Given the description of an element on the screen output the (x, y) to click on. 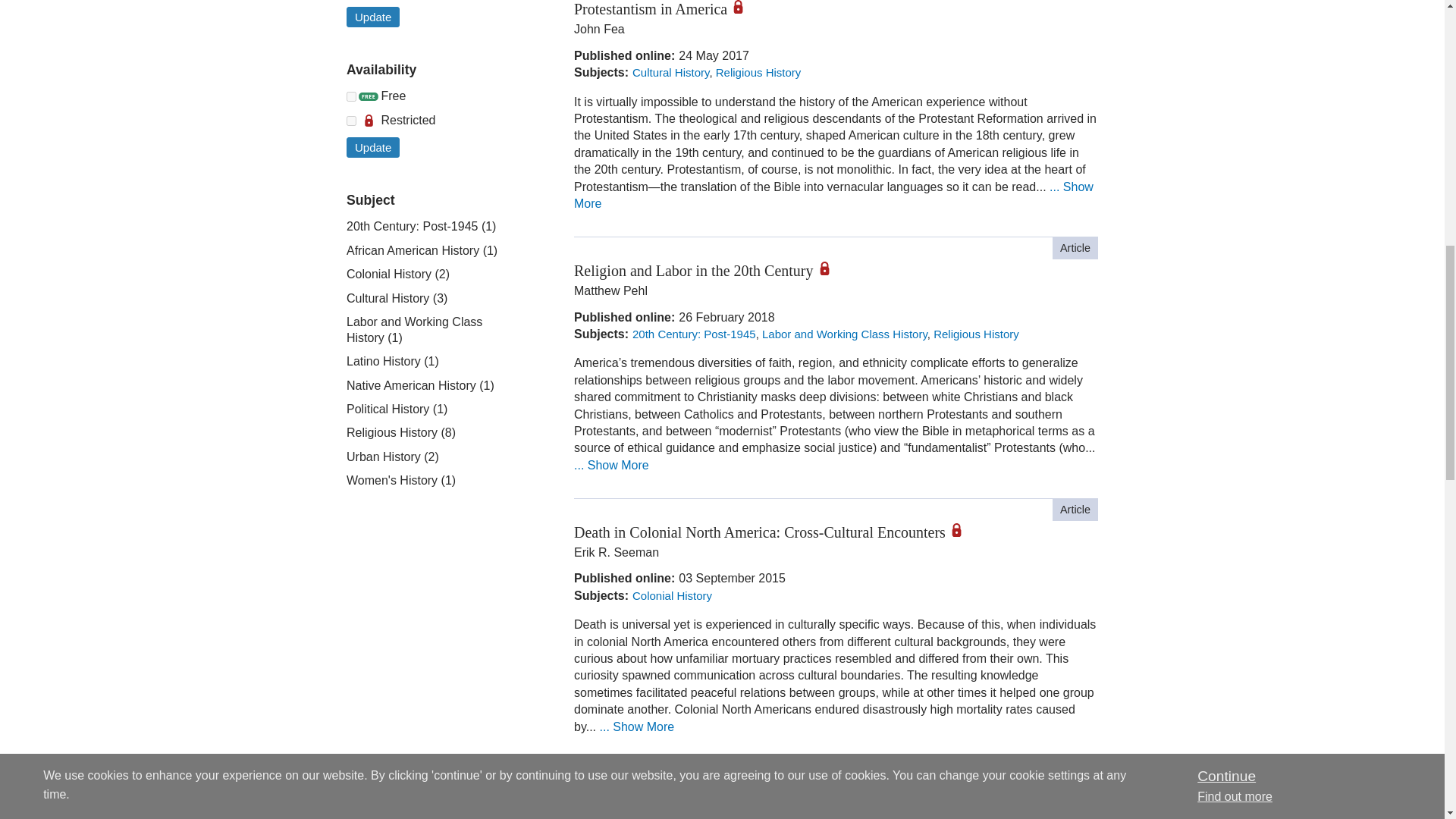
locked (351, 121)
free (351, 96)
